Given the description of an element on the screen output the (x, y) to click on. 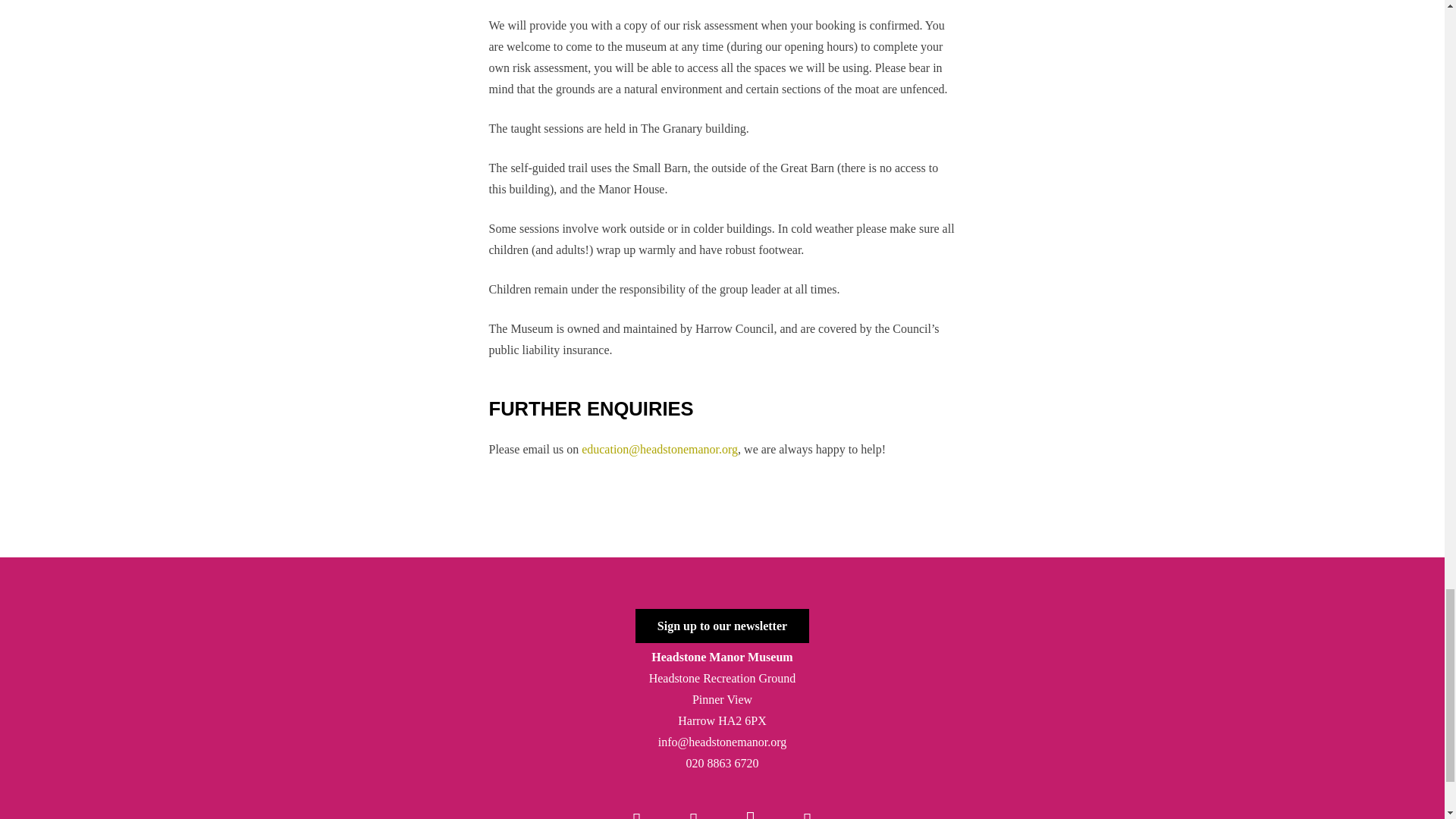
Tripadvisor (806, 805)
Instagram (750, 805)
Facebook (636, 805)
Twitter (693, 805)
